Given the description of an element on the screen output the (x, y) to click on. 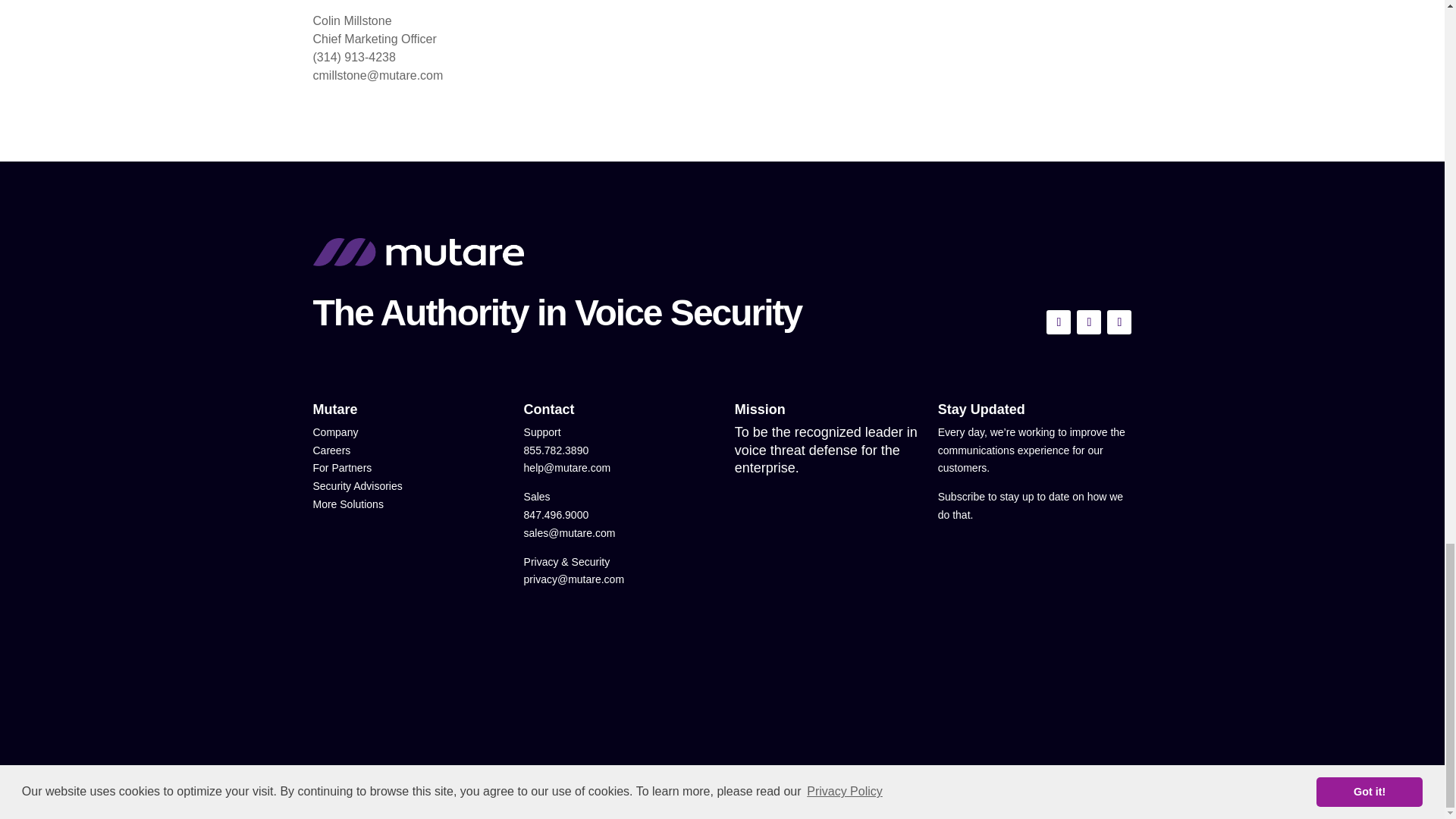
Follow on Youtube (1088, 322)
Follow on LinkedIn (1118, 322)
Form 0 (1034, 624)
Follow on Twitter (1058, 322)
Mutare Logo White 2024 (417, 252)
